Given the description of an element on the screen output the (x, y) to click on. 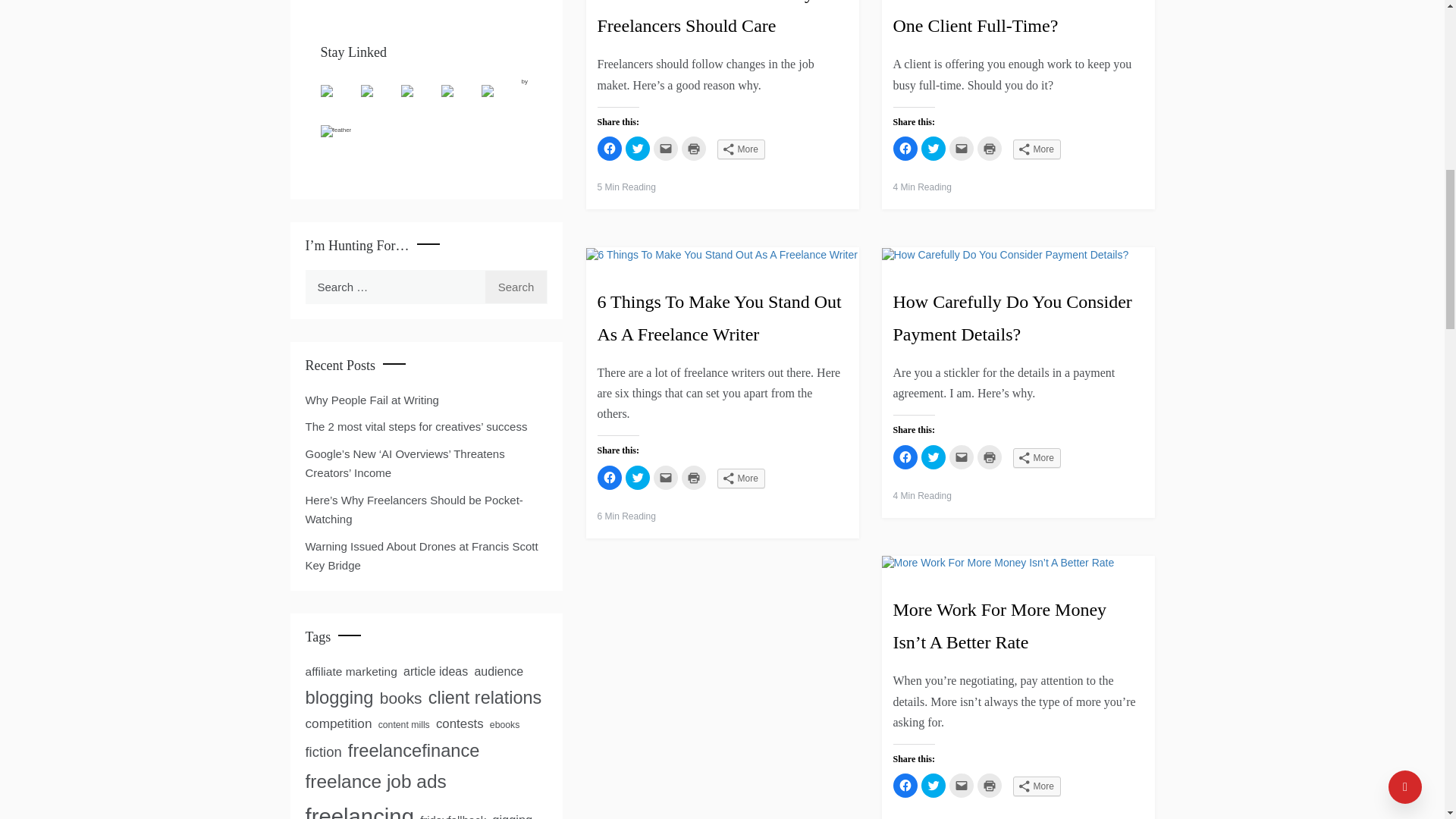
Search (516, 286)
Search (516, 286)
